Given the description of an element on the screen output the (x, y) to click on. 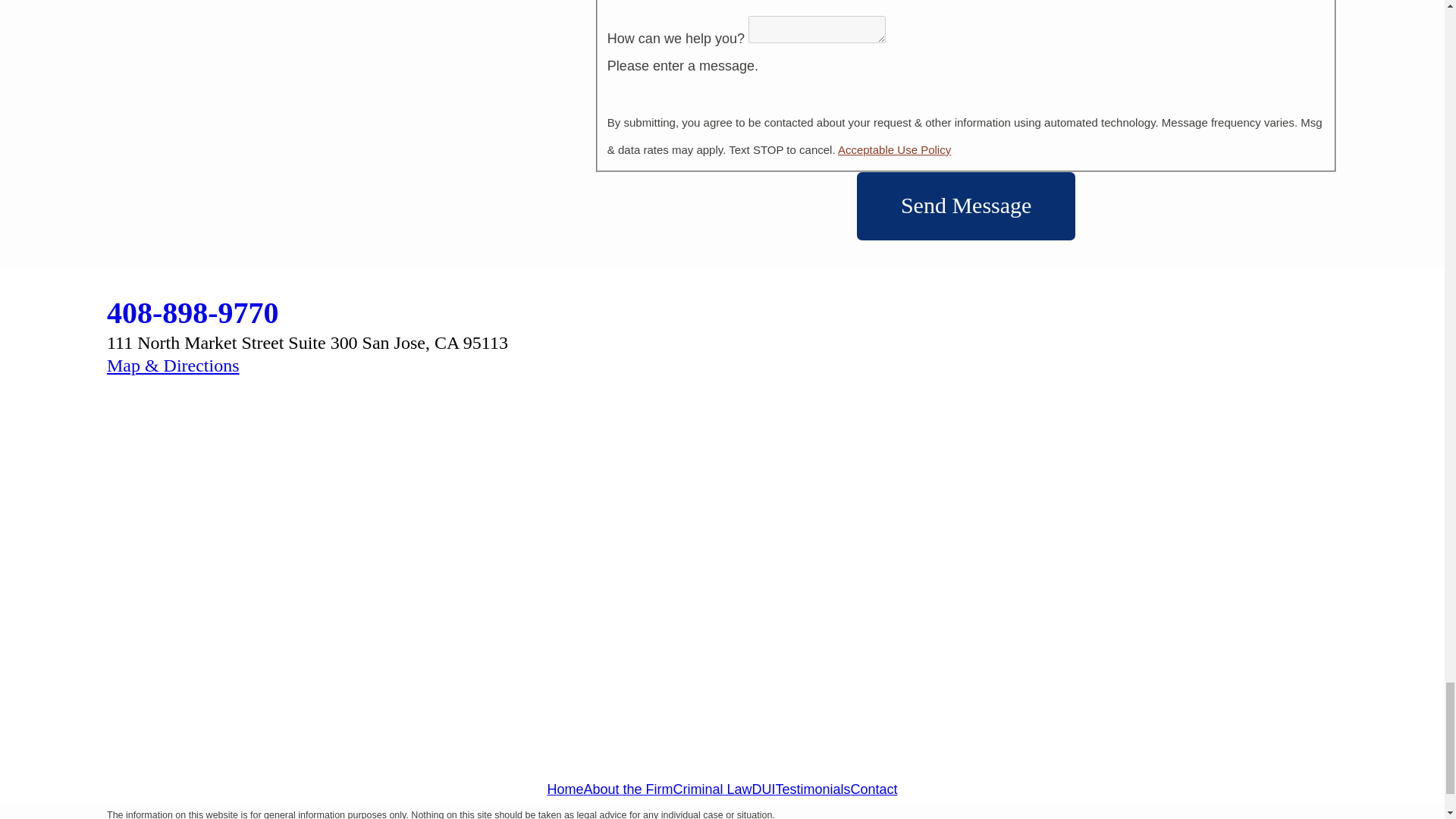
LinkedIn (1142, 762)
Twitter (721, 762)
Facebook (301, 762)
